Given the description of an element on the screen output the (x, y) to click on. 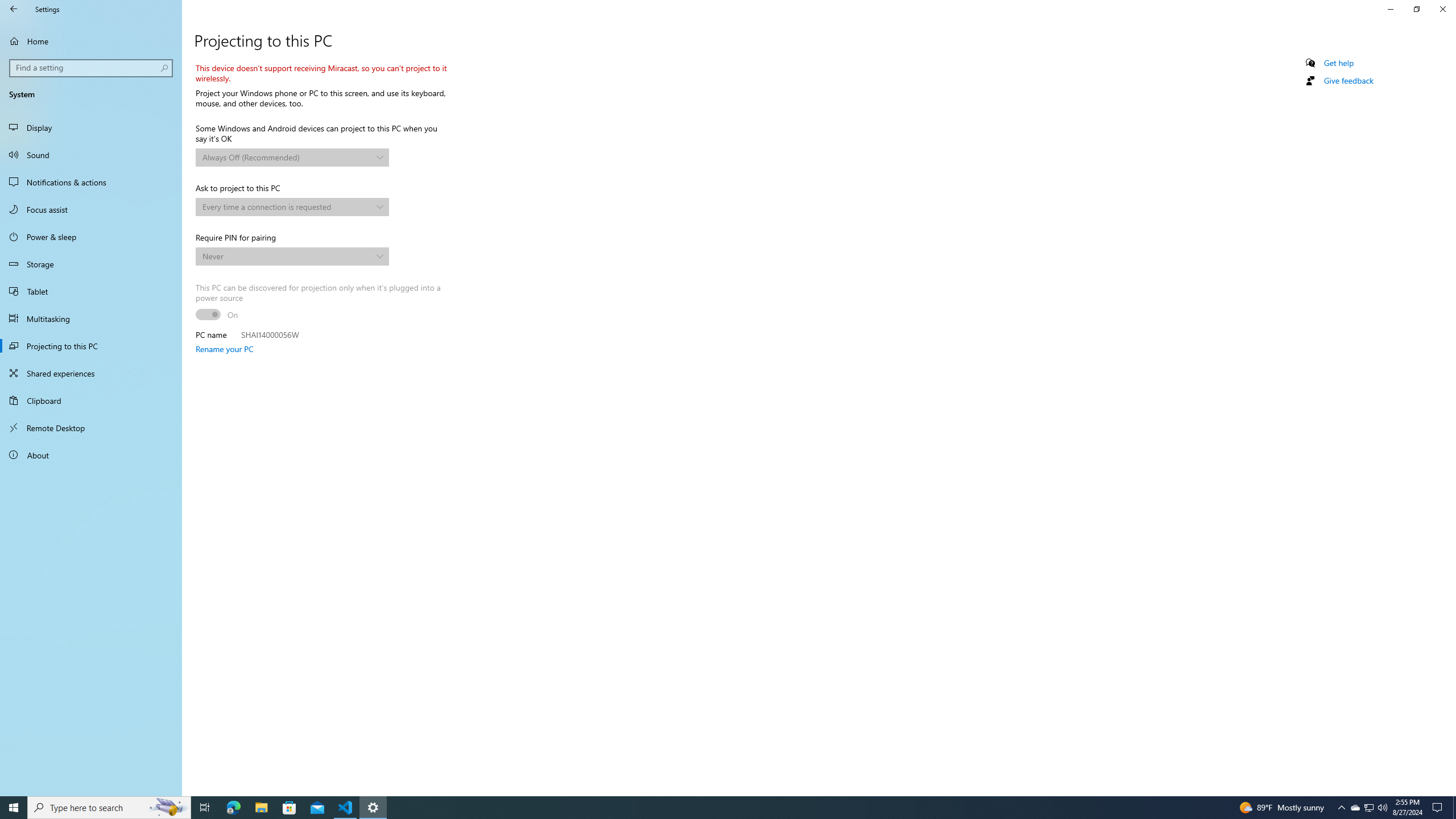
Close Settings (1442, 9)
Clipboard (91, 400)
Multitasking (91, 318)
Start (13, 807)
